Given the description of an element on the screen output the (x, y) to click on. 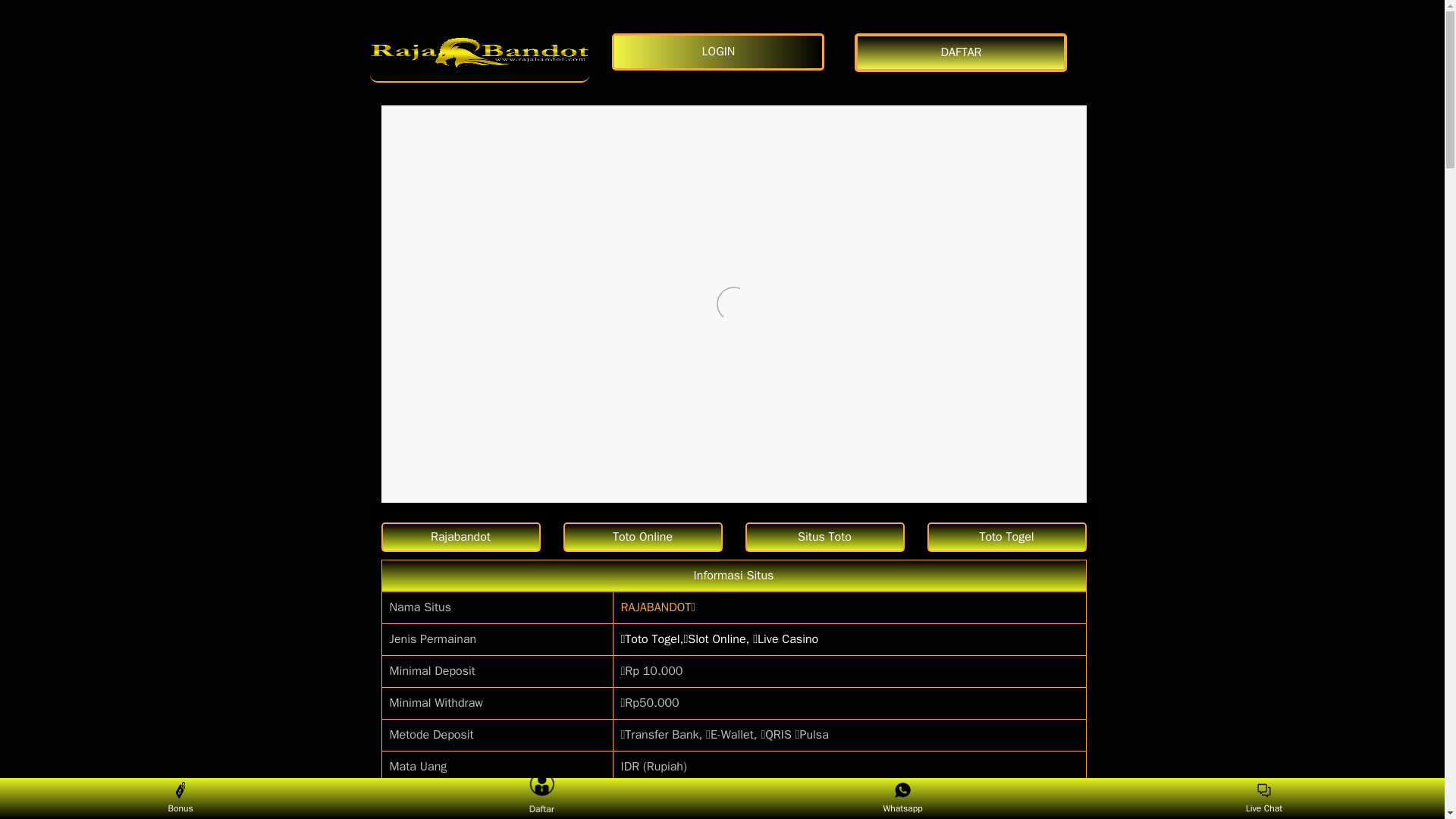
Toto Togel (1006, 537)
Situs Toto (824, 537)
Daftar (537, 795)
Live Chat (1263, 797)
Bonus (180, 797)
Toto Togel (1006, 537)
situs toto (479, 52)
DAFTAR (964, 52)
Situs Toto (824, 537)
Toto Online (642, 537)
Rajabandot (460, 537)
LOGIN (721, 51)
Whatsapp (903, 797)
Rajabandot (460, 537)
Toto Online (642, 537)
